Given the description of an element on the screen output the (x, y) to click on. 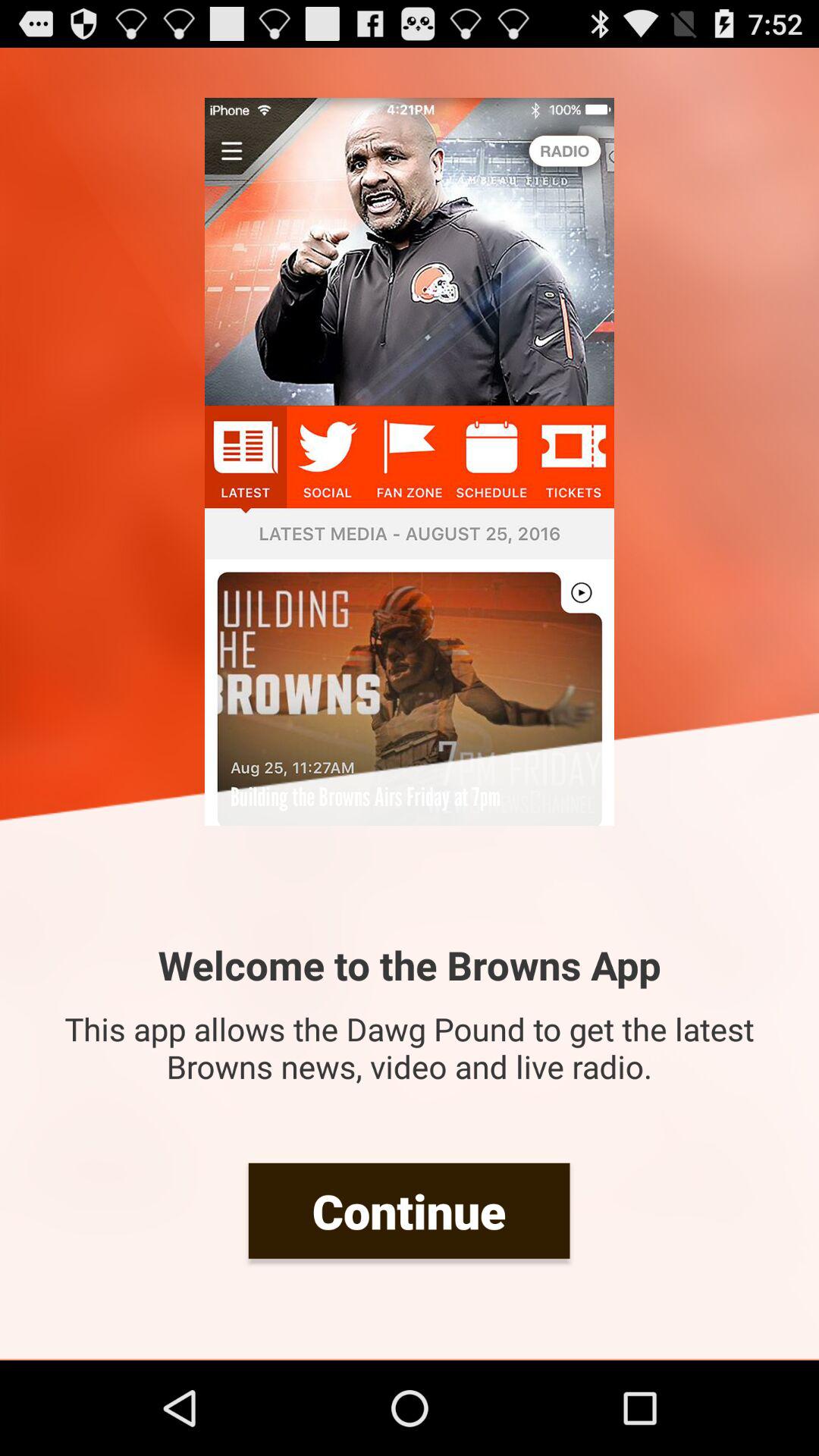
turn on icon below the this app allows item (408, 1210)
